Given the description of an element on the screen output the (x, y) to click on. 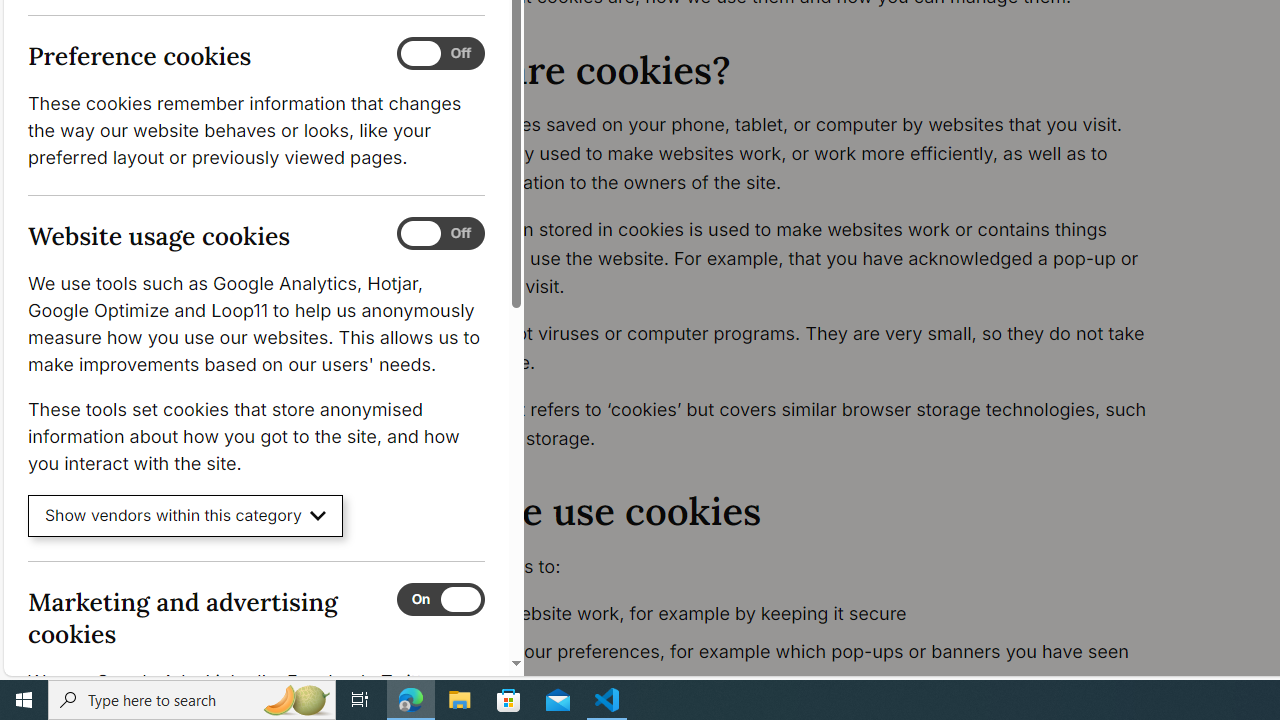
Marketing and advertising cookies (440, 599)
Website usage cookies (440, 233)
Show vendors within this category (185, 516)
make our website work, for example by keeping it secure (796, 614)
Preference cookies (440, 53)
